Given the description of an element on the screen output the (x, y) to click on. 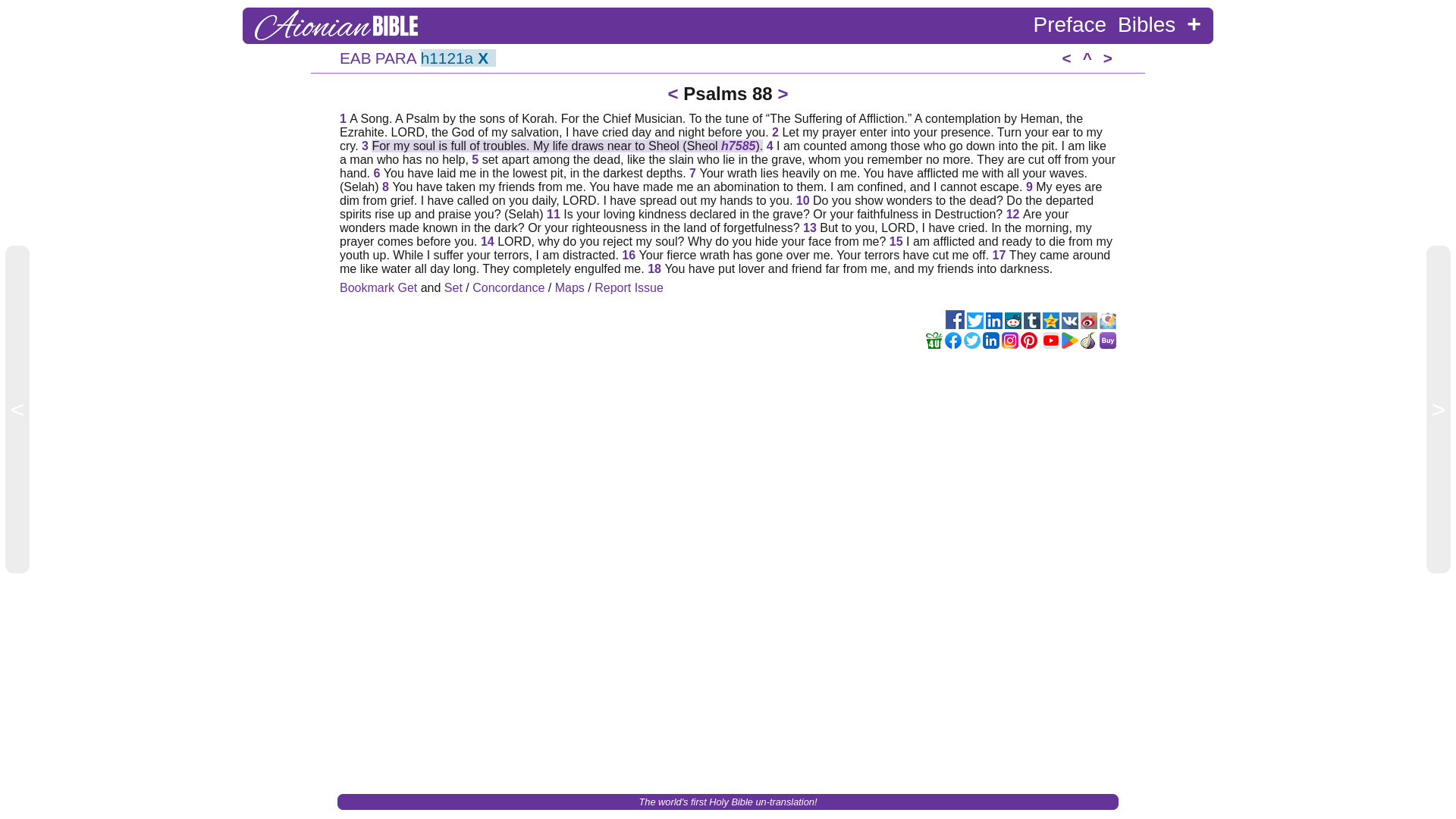
Read and Study Parallel Bible (395, 57)
18 (654, 268)
h1121a (446, 57)
Aionian Bible homepage (335, 35)
Search Aionian Glossary and Strongs Concordance (446, 57)
Bible Table of Contents (355, 57)
12 (1013, 214)
15 (895, 241)
Preface and mission (1069, 24)
11 (553, 214)
Read and Study Bible (1146, 24)
EAB (355, 57)
13 (809, 227)
Next book (1107, 57)
Bibles (1146, 24)
